Given the description of an element on the screen output the (x, y) to click on. 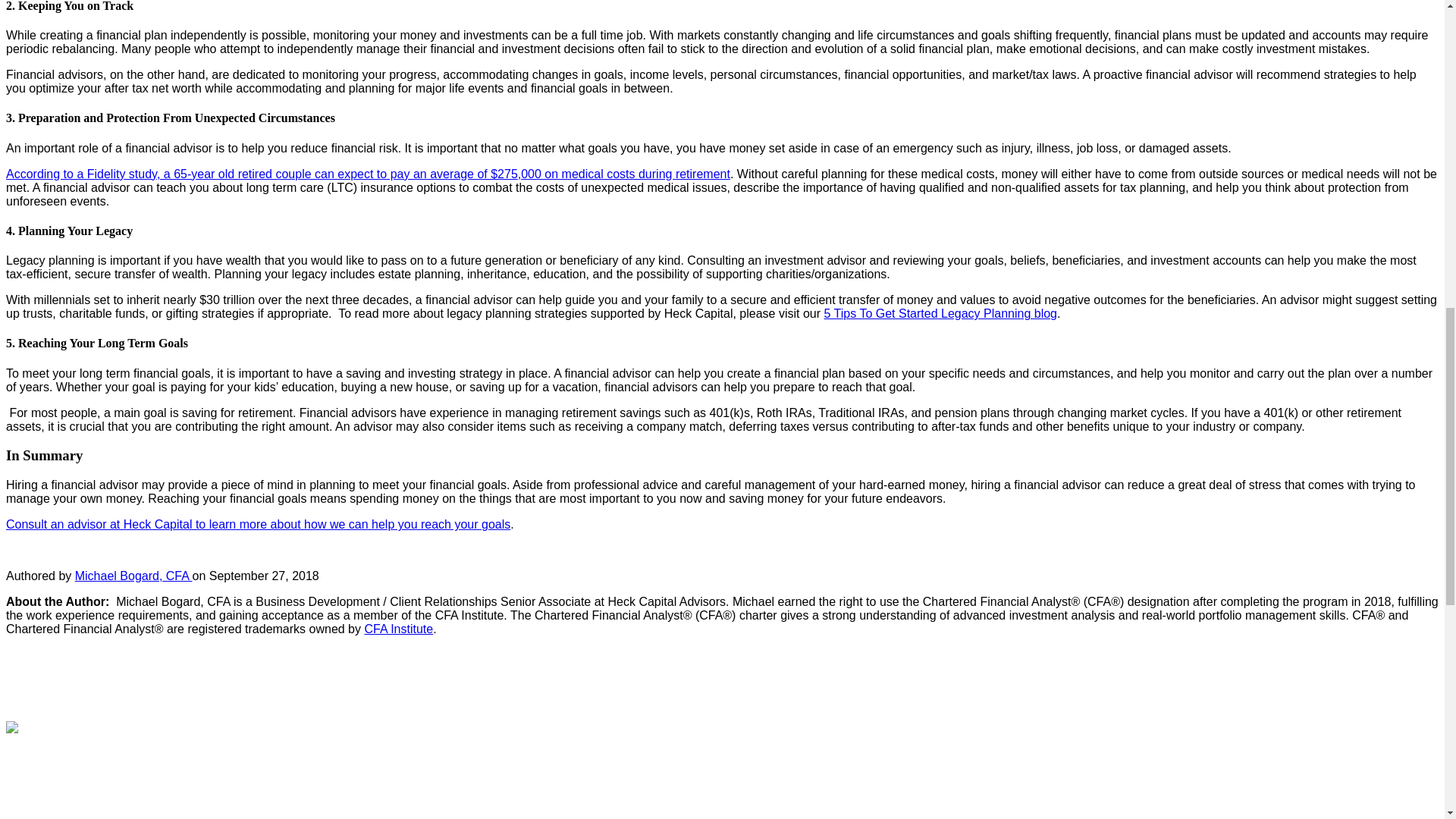
Contact Us (35, 795)
Important Disclosure Information (92, 816)
5 Tips To Get Started Legacy Planning blog (940, 313)
CFA Institute (398, 628)
Michael Bogard, CFA  (133, 575)
Contact Us (35, 795)
